Given the description of an element on the screen output the (x, y) to click on. 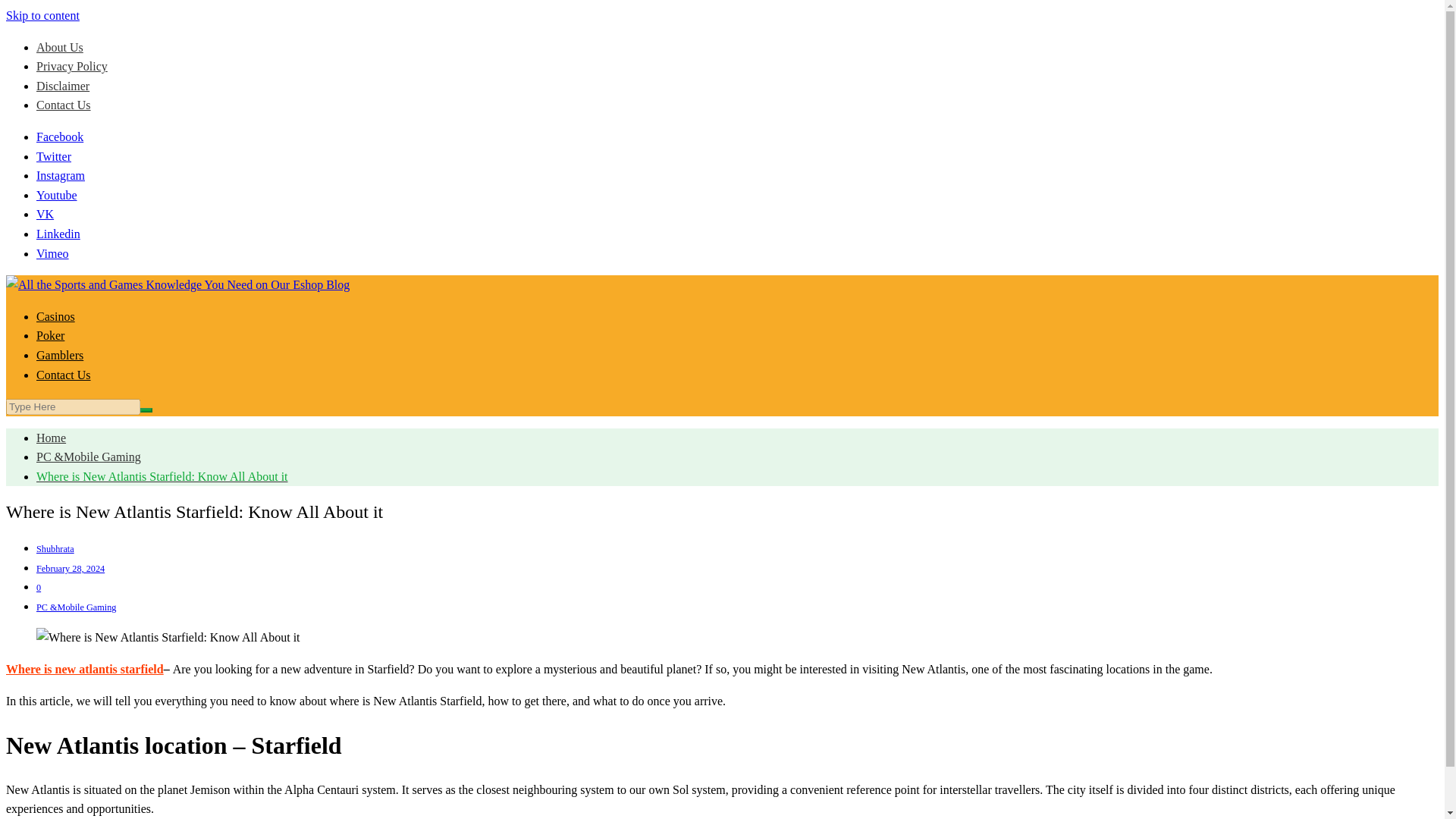
Shubhrata (55, 548)
Twitter (53, 155)
Linkedin (58, 233)
VK (44, 214)
February 28, 2024 (70, 568)
Contact Us (63, 374)
Instagram (60, 174)
Where is new atlantis starfield (84, 668)
Facebook (59, 136)
Vimeo (52, 253)
About Us (59, 47)
Poker (50, 335)
Skip to content (42, 15)
Disclaimer (62, 85)
0 (38, 587)
